Given the description of an element on the screen output the (x, y) to click on. 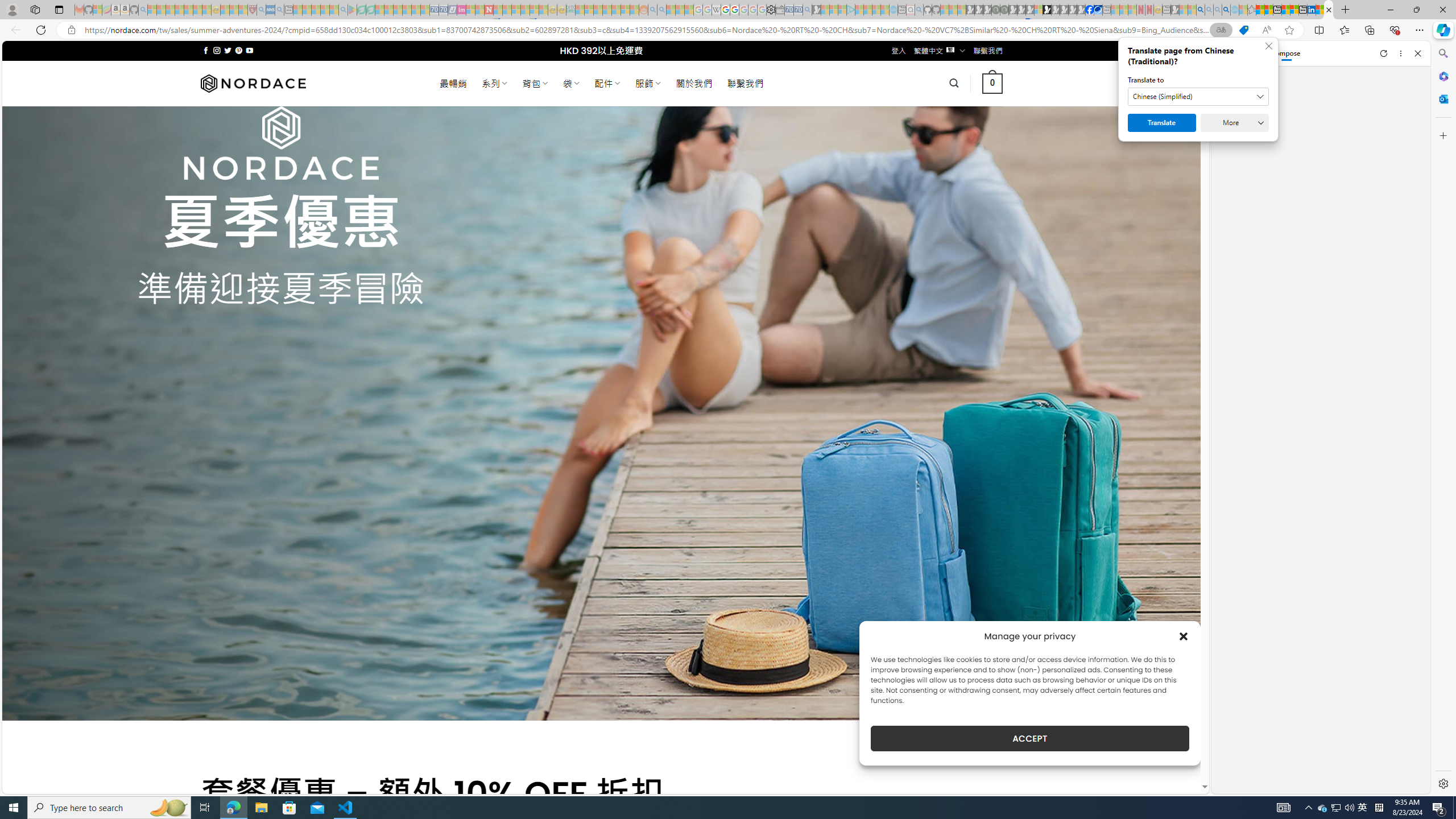
Follow on Instagram (216, 50)
Bing AI - Search (1200, 9)
Wallet - Sleeping (779, 9)
